Given the description of an element on the screen output the (x, y) to click on. 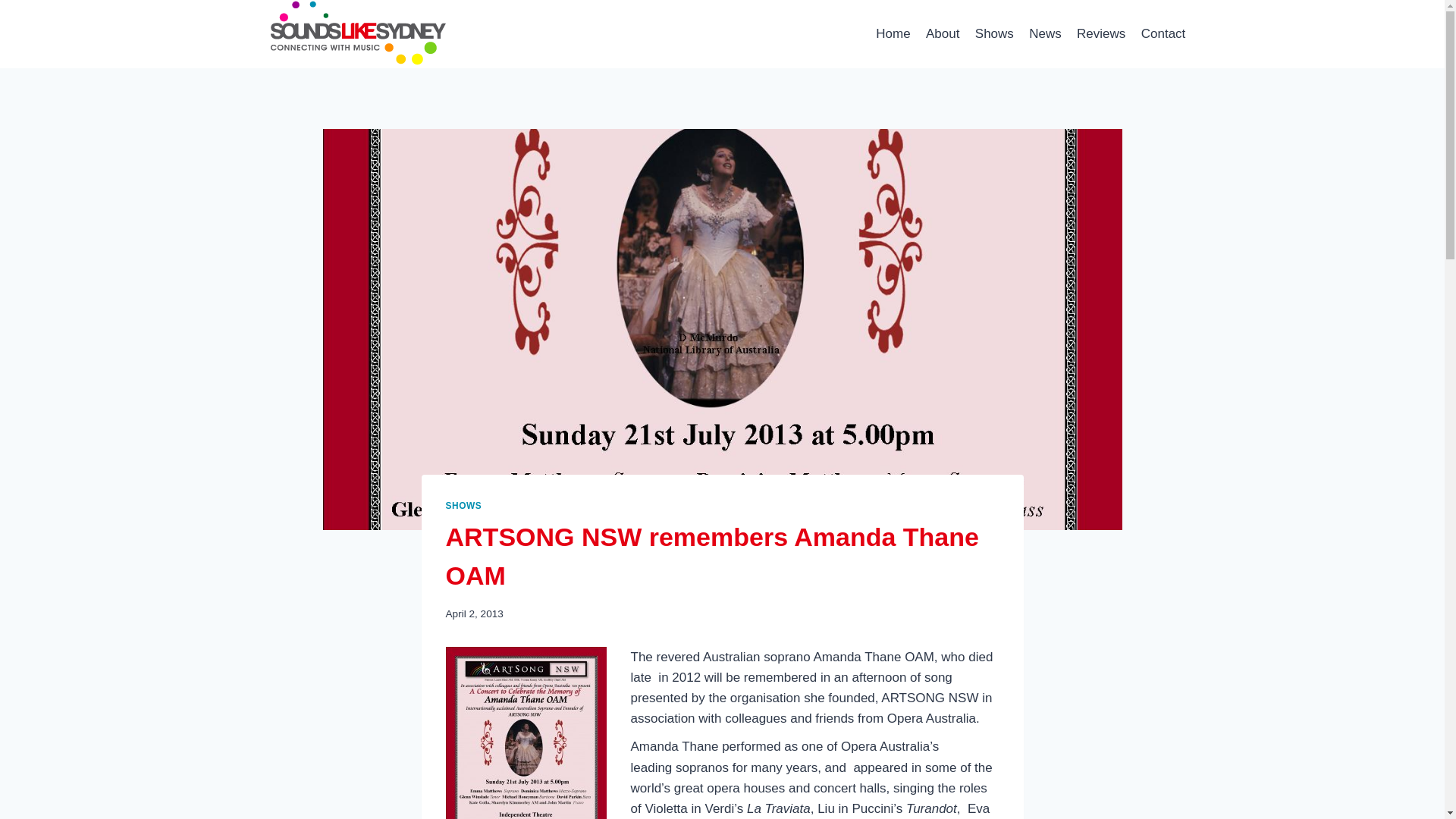
Contact (1163, 33)
Reviews (1101, 33)
Shows (995, 33)
About (943, 33)
Home (892, 33)
amanda memorial concert (526, 733)
News (1045, 33)
SHOWS (463, 505)
